Given the description of an element on the screen output the (x, y) to click on. 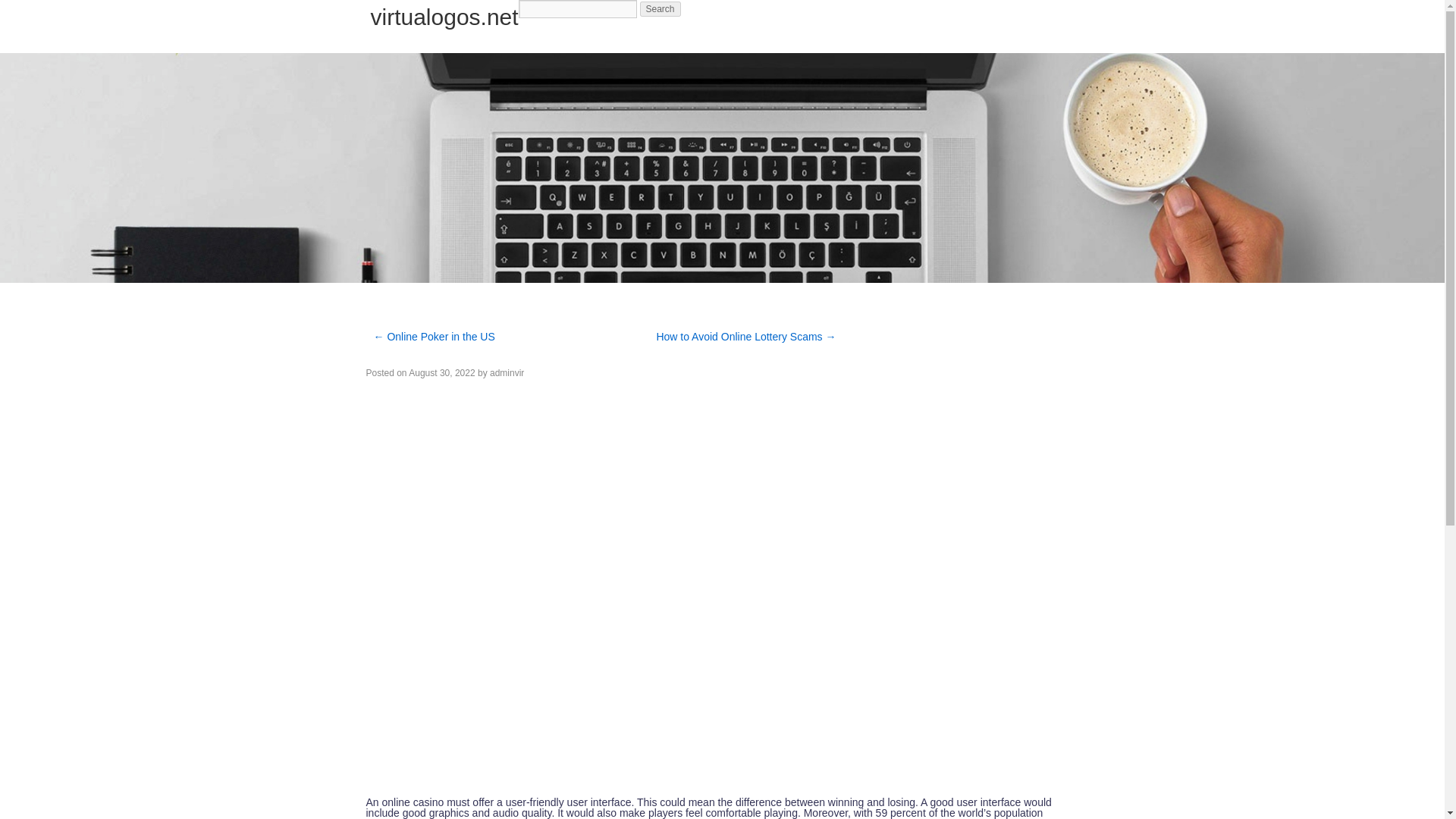
Search (660, 8)
View all posts by adminvir (506, 372)
Search (660, 8)
August 30, 2022 (441, 372)
adminvir (506, 372)
1:20 am (441, 372)
virtualogos.net (443, 16)
